Given the description of an element on the screen output the (x, y) to click on. 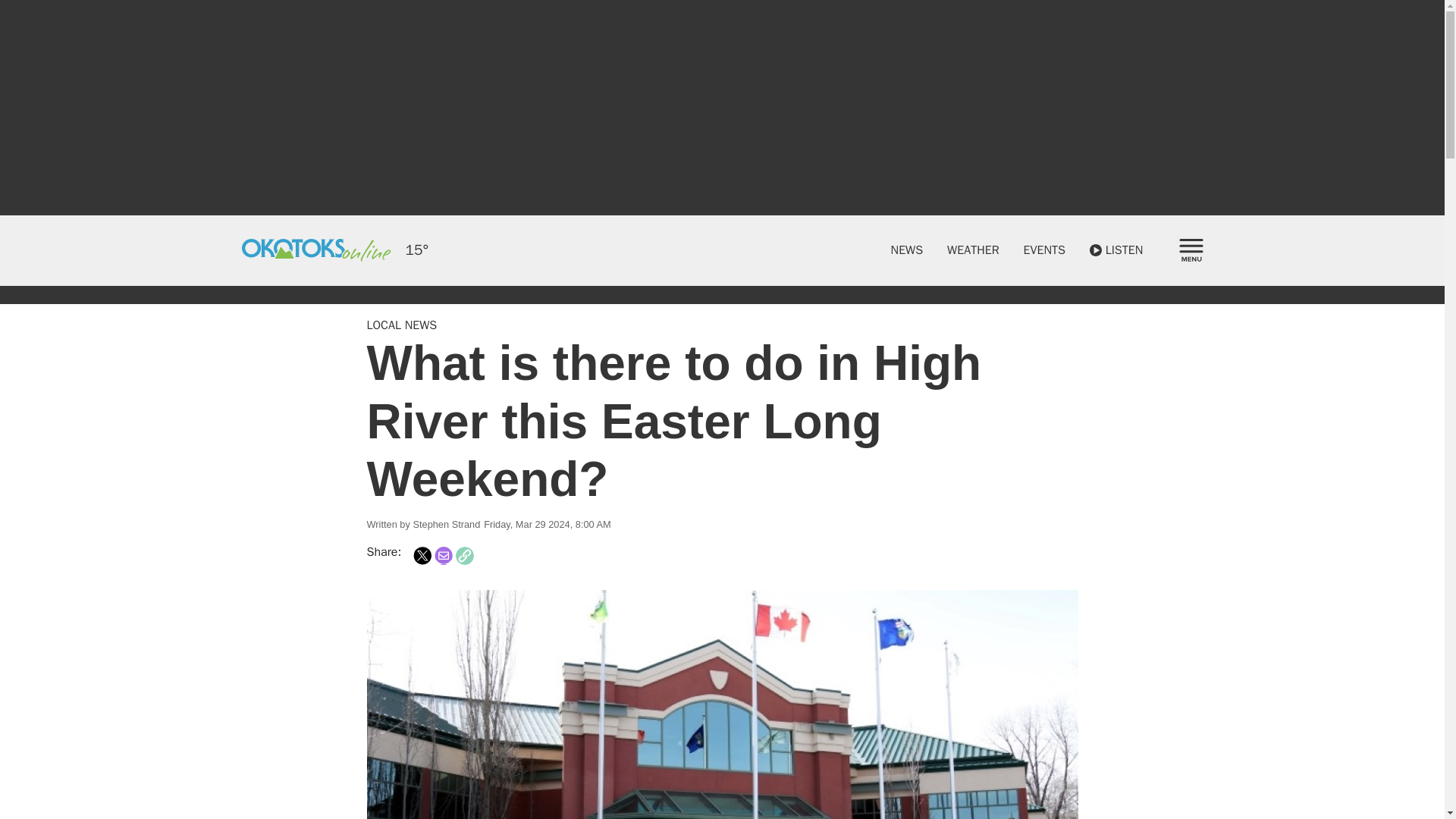
Share to Email (442, 556)
Copy Link (464, 556)
